Given the description of an element on the screen output the (x, y) to click on. 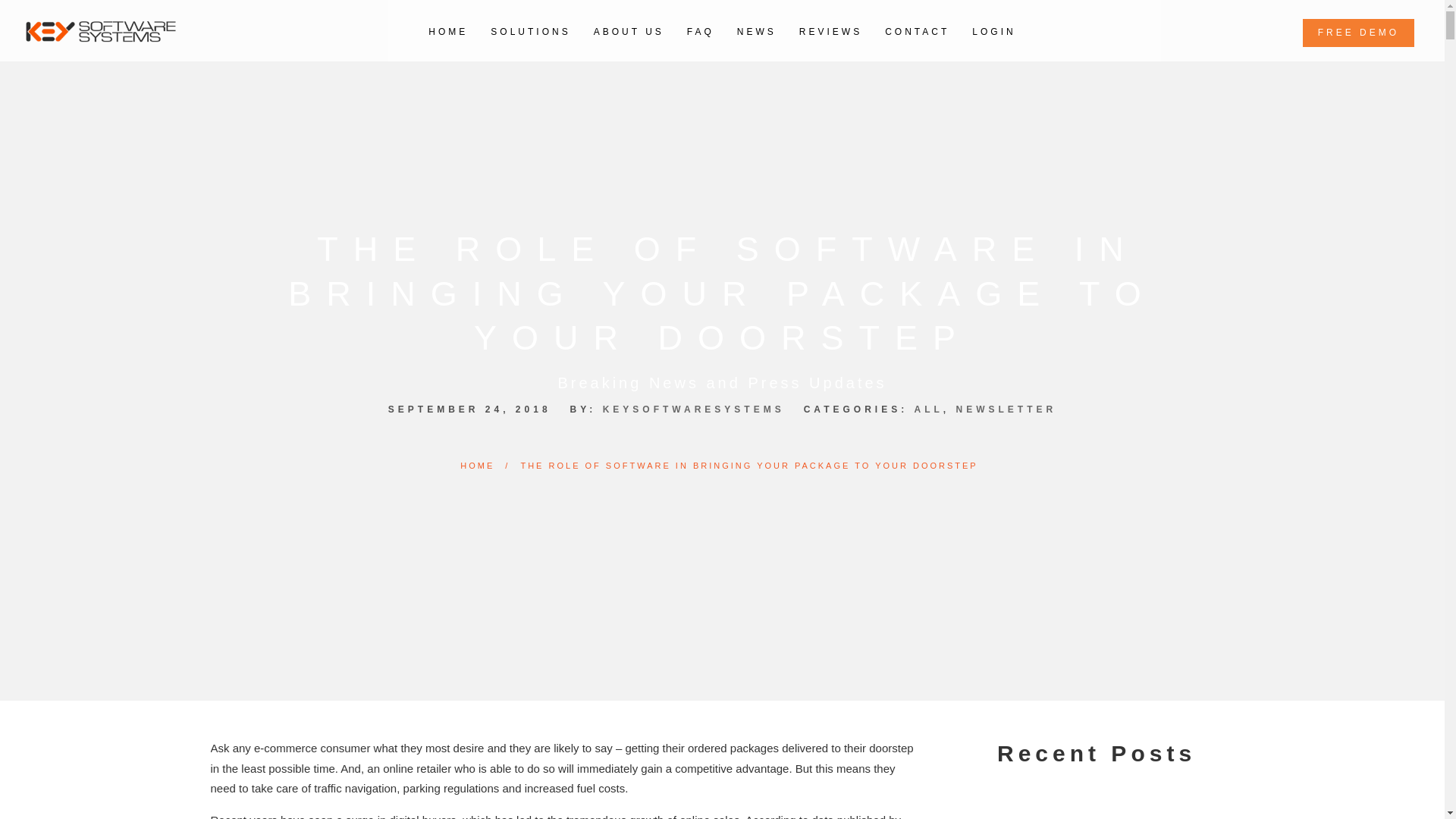
ABOUT US (628, 30)
HOME (477, 465)
SOLUTIONS (530, 30)
KEYSOFTWARESYSTEMS (693, 408)
REVIEWS (830, 30)
CONTACT (917, 30)
ALL (928, 408)
FREE DEMO (1358, 32)
NEWSLETTER (1006, 408)
